Given the description of an element on the screen output the (x, y) to click on. 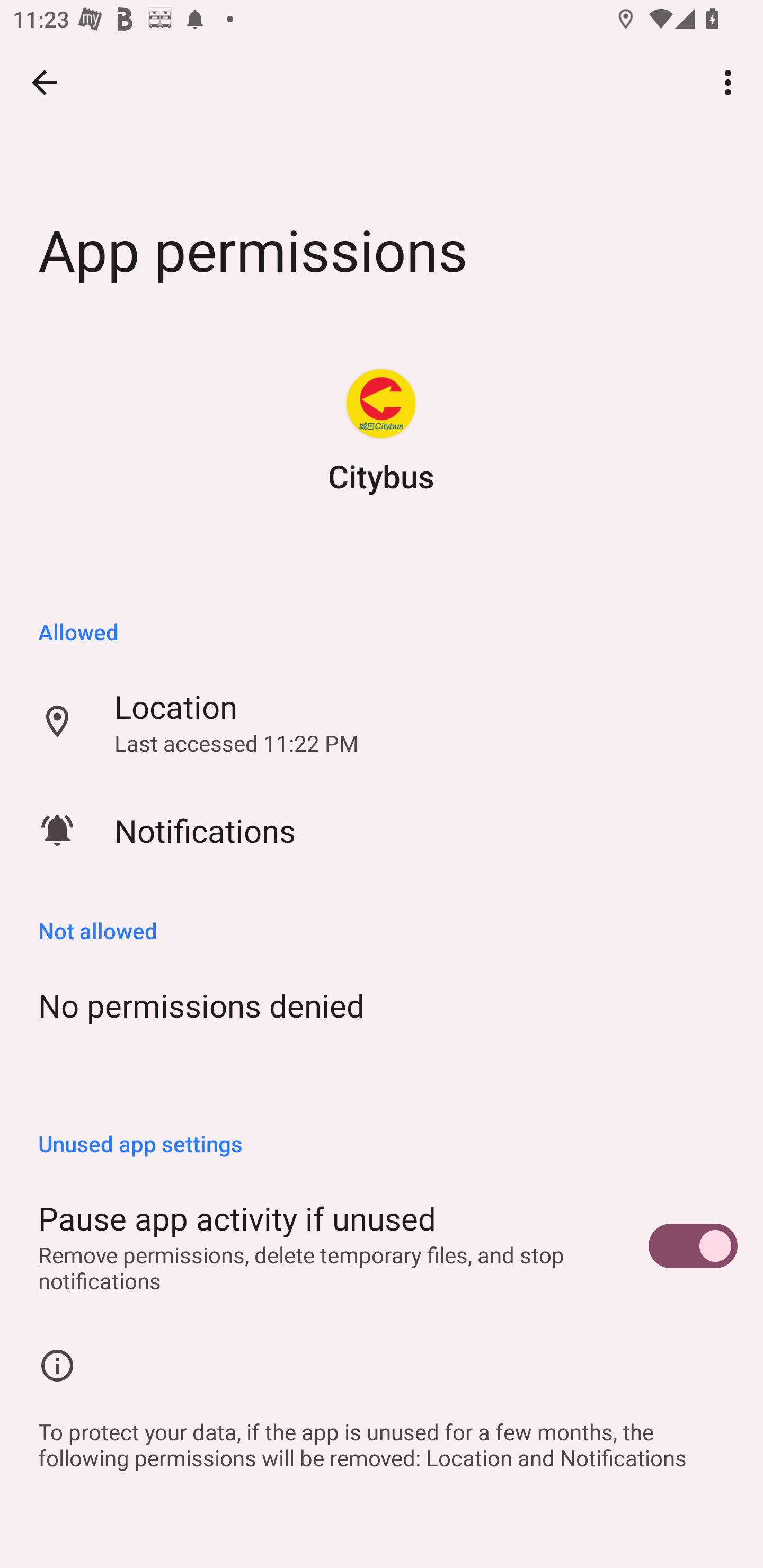
Back (44, 82)
More options (731, 81)
Citybus (380, 403)
Location Last accessed 11:22 PM (381, 722)
Notifications (381, 830)
